Given the description of an element on the screen output the (x, y) to click on. 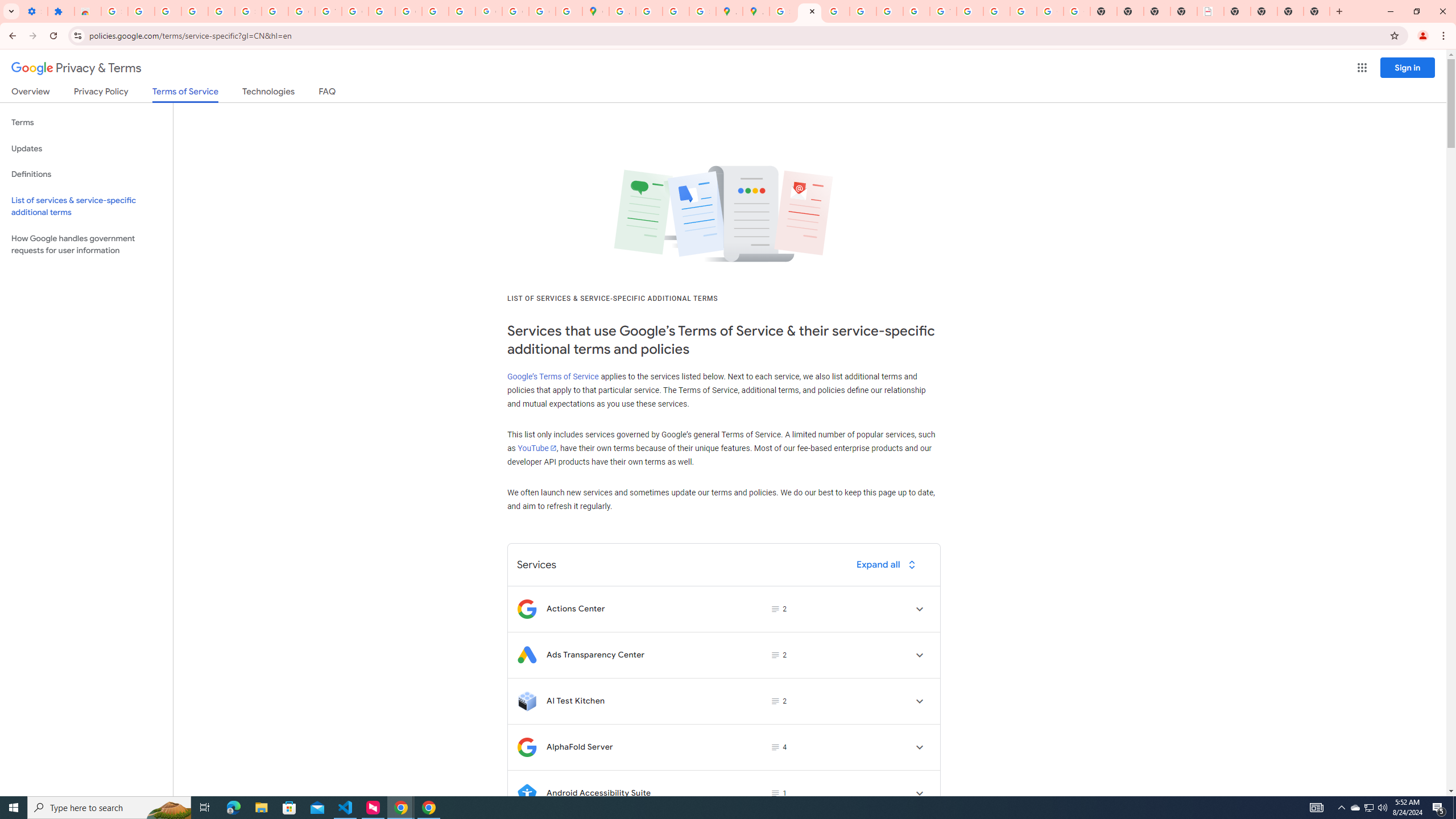
Google Account (301, 11)
Logo for Actions Center (526, 608)
Delete photos & videos - Computer - Google Photos Help (167, 11)
Logo for Ads Transparency Center (526, 654)
Privacy Help Center - Policies Help (836, 11)
https://scholar.google.com/ (382, 11)
